Given the description of an element on the screen output the (x, y) to click on. 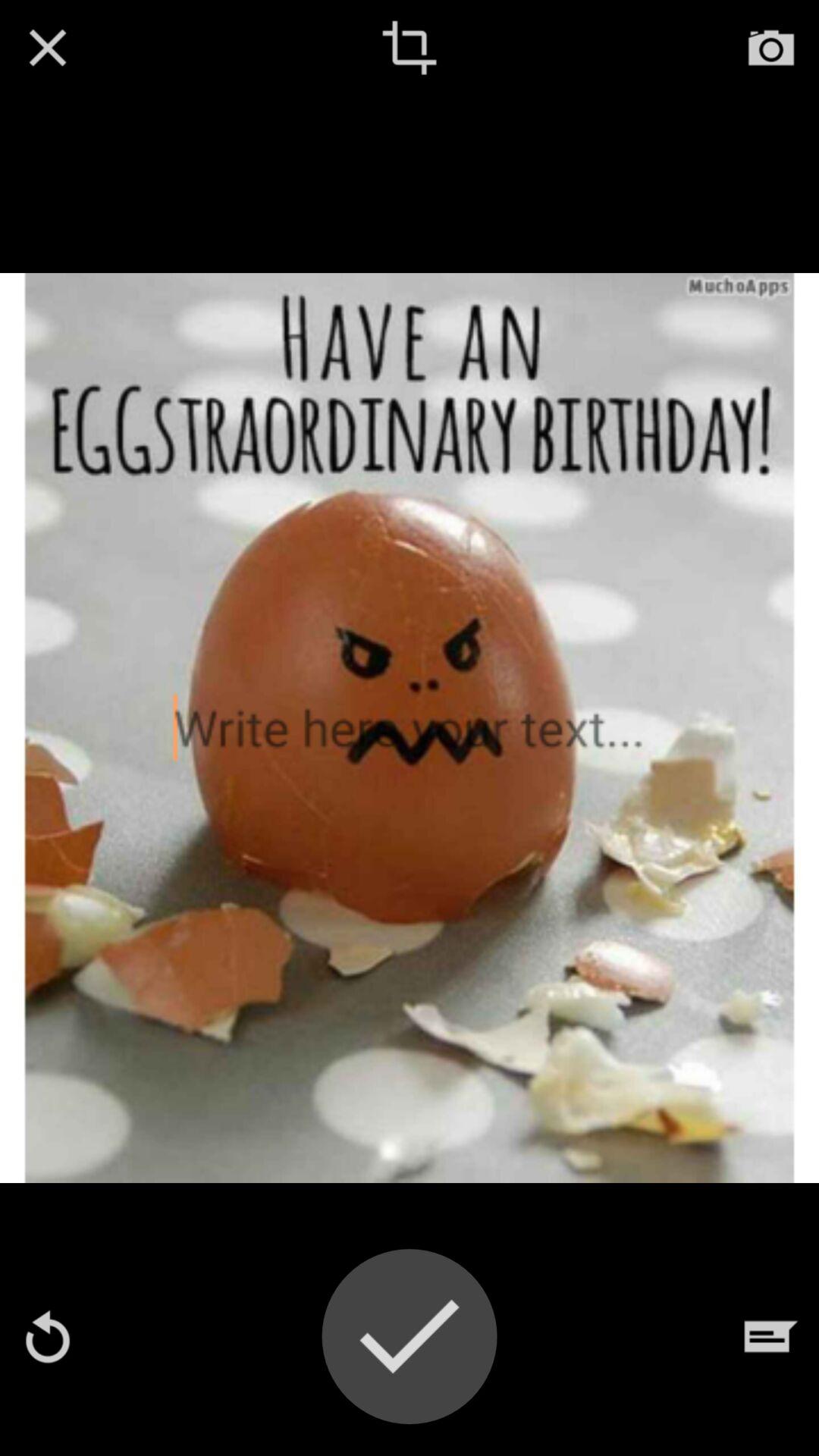
select picture (409, 1336)
